Given the description of an element on the screen output the (x, y) to click on. 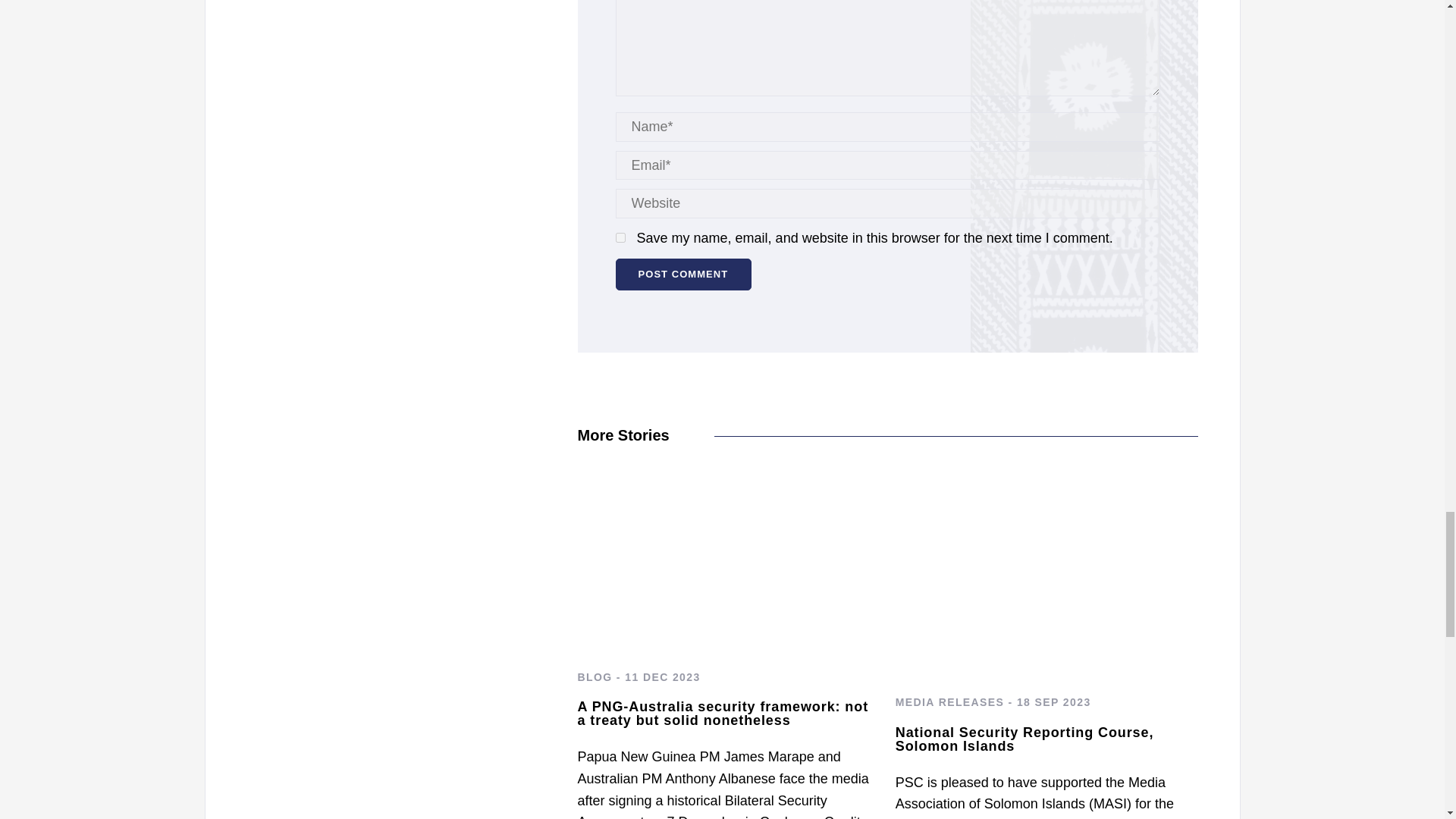
yes (620, 237)
Post Comment (683, 274)
